Given the description of an element on the screen output the (x, y) to click on. 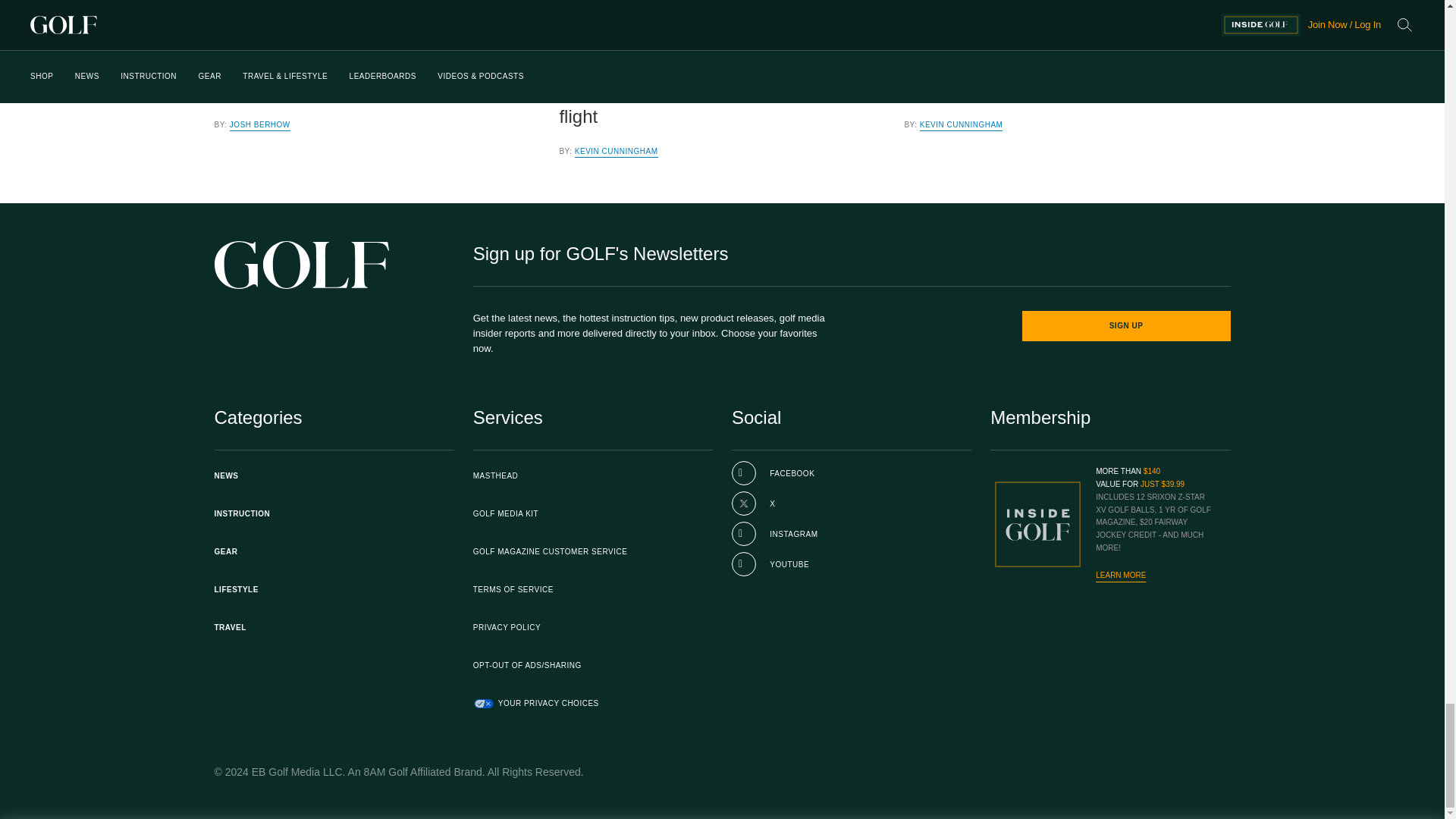
Golf logo. Back to home. (301, 264)
